Given the description of an element on the screen output the (x, y) to click on. 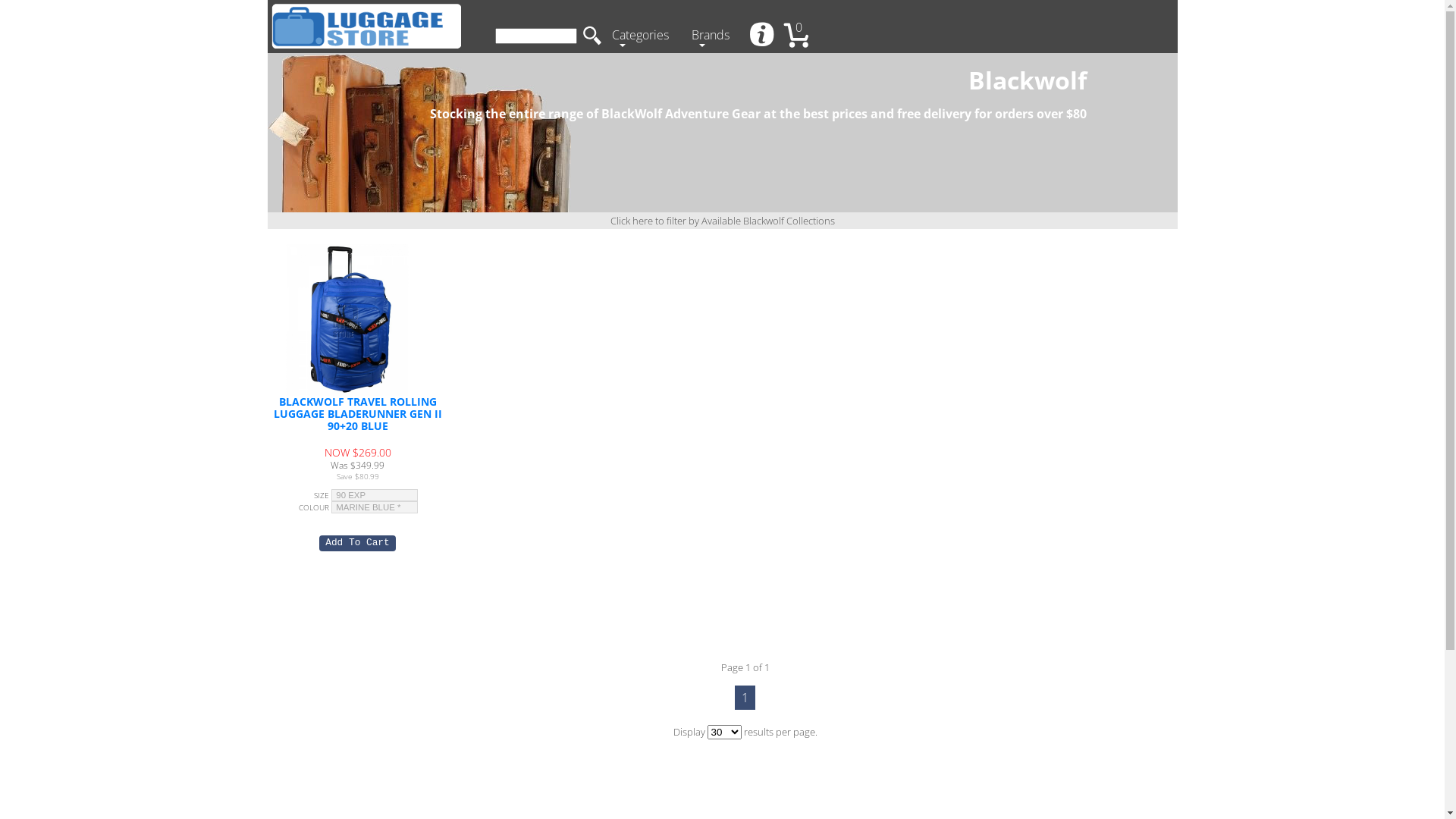
Categories Element type: text (643, 36)
1 Element type: text (744, 697)
search Element type: hover (591, 35)
Brands Element type: text (714, 36)
Product Search Element type: hover (535, 35)
  Element type: text (762, 35)
LuggageStore Element type: hover (366, 26)
About Us Element type: hover (762, 35)
Click here to filter by Available Blackwolf Collections Element type: text (721, 220)
0 Element type: text (801, 36)
Add To Cart Element type: text (357, 543)
